Given the description of an element on the screen output the (x, y) to click on. 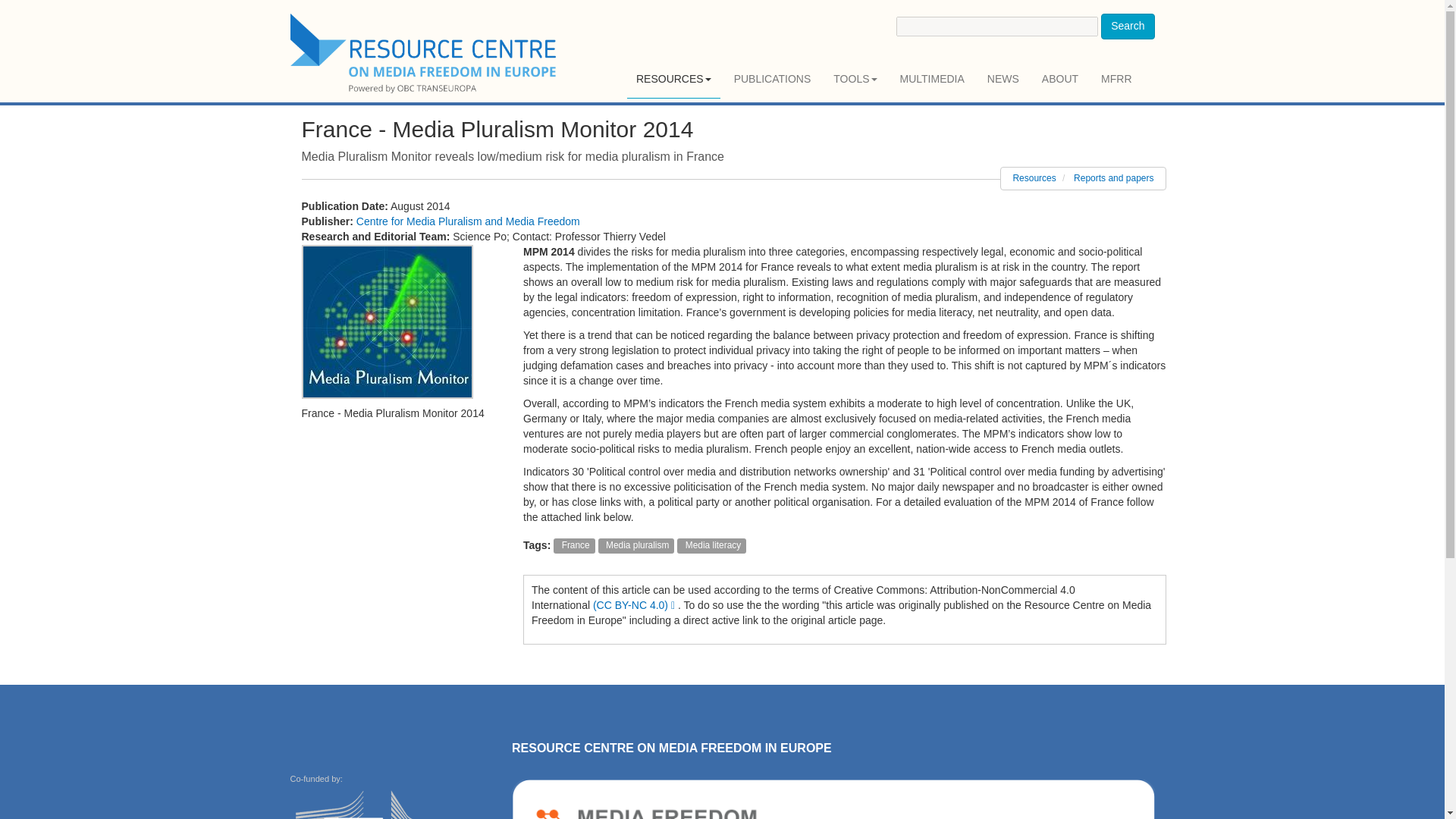
NEWS (1002, 78)
TOOLS (854, 78)
Reports and papers (1113, 177)
RESOURCE CENTRE ON MEDIA FREEDOM IN EUROPE (671, 748)
Search (1127, 26)
France (574, 544)
MULTIMEDIA (932, 78)
Media pluralism (636, 544)
Centre for Media Pluralism and Media Freedom (467, 221)
Media Freedom Rapid Response Logo (833, 799)
France - Media Pluralism Monitor 2014 (387, 321)
PUBLICATIONS (773, 78)
MFRR (1116, 78)
Resources (1033, 177)
Resource Centre (424, 53)
